Given the description of an element on the screen output the (x, y) to click on. 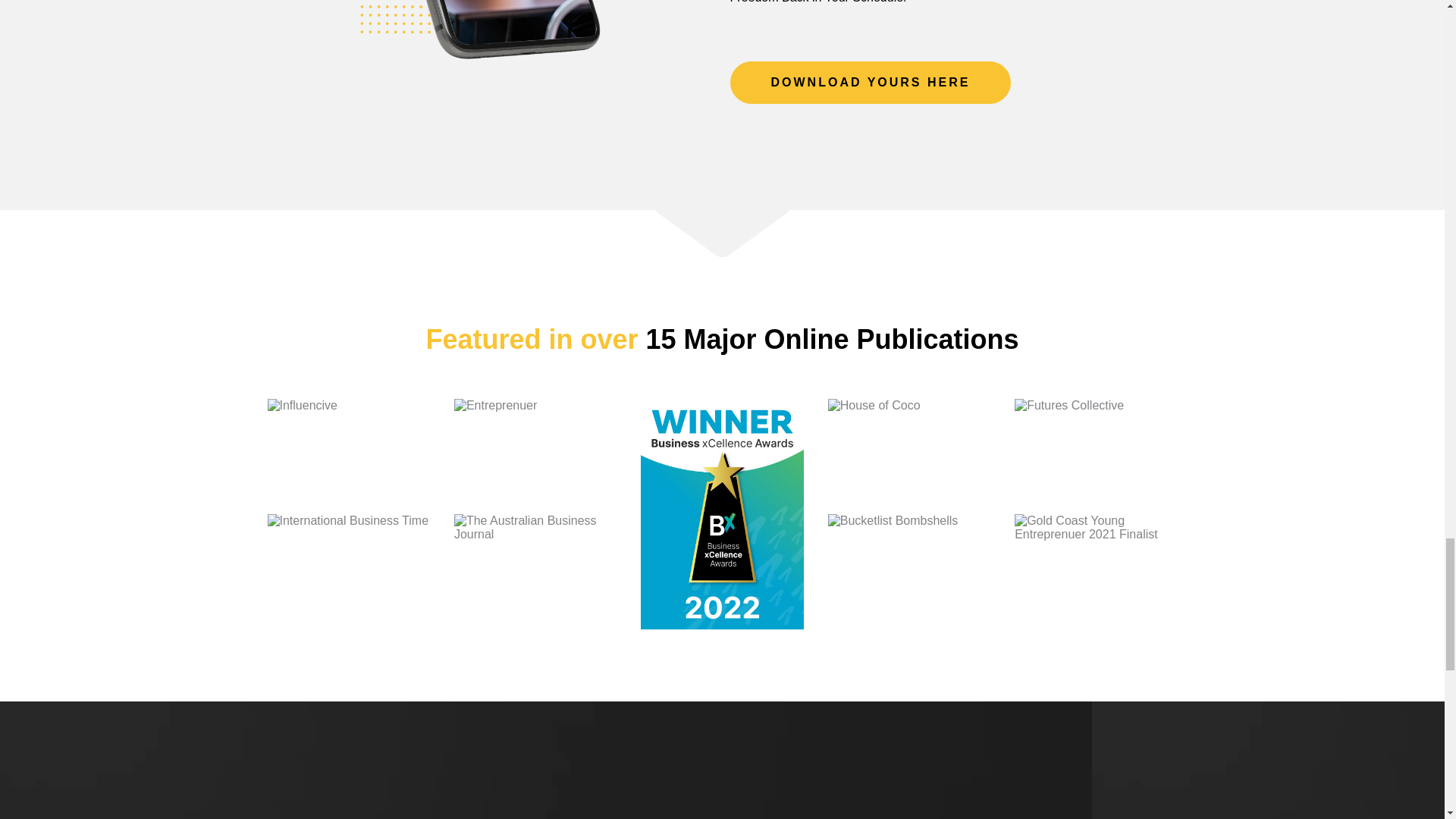
House of Coco (909, 456)
The Australian Business Journal (534, 571)
Influencive (347, 456)
Bucketlist Bombshells (909, 571)
DOWNLOAD YOURS HERE (869, 82)
Entreprenuer (534, 456)
International Business Time (347, 571)
